Given the description of an element on the screen output the (x, y) to click on. 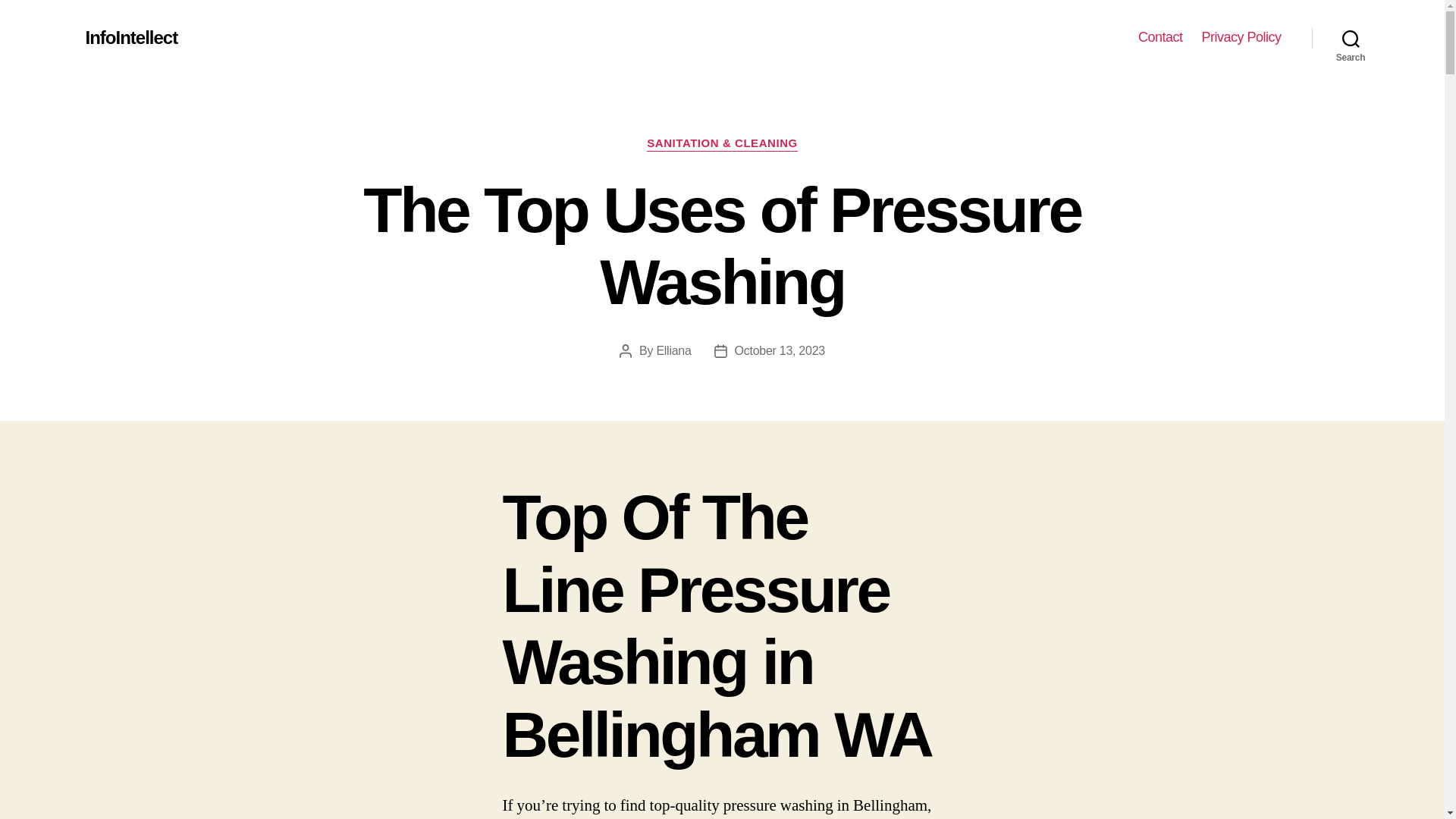
Elliana (673, 350)
InfoIntellect (130, 37)
Search (1350, 37)
Contact (1160, 37)
October 13, 2023 (780, 350)
Privacy Policy (1241, 37)
